Given the description of an element on the screen output the (x, y) to click on. 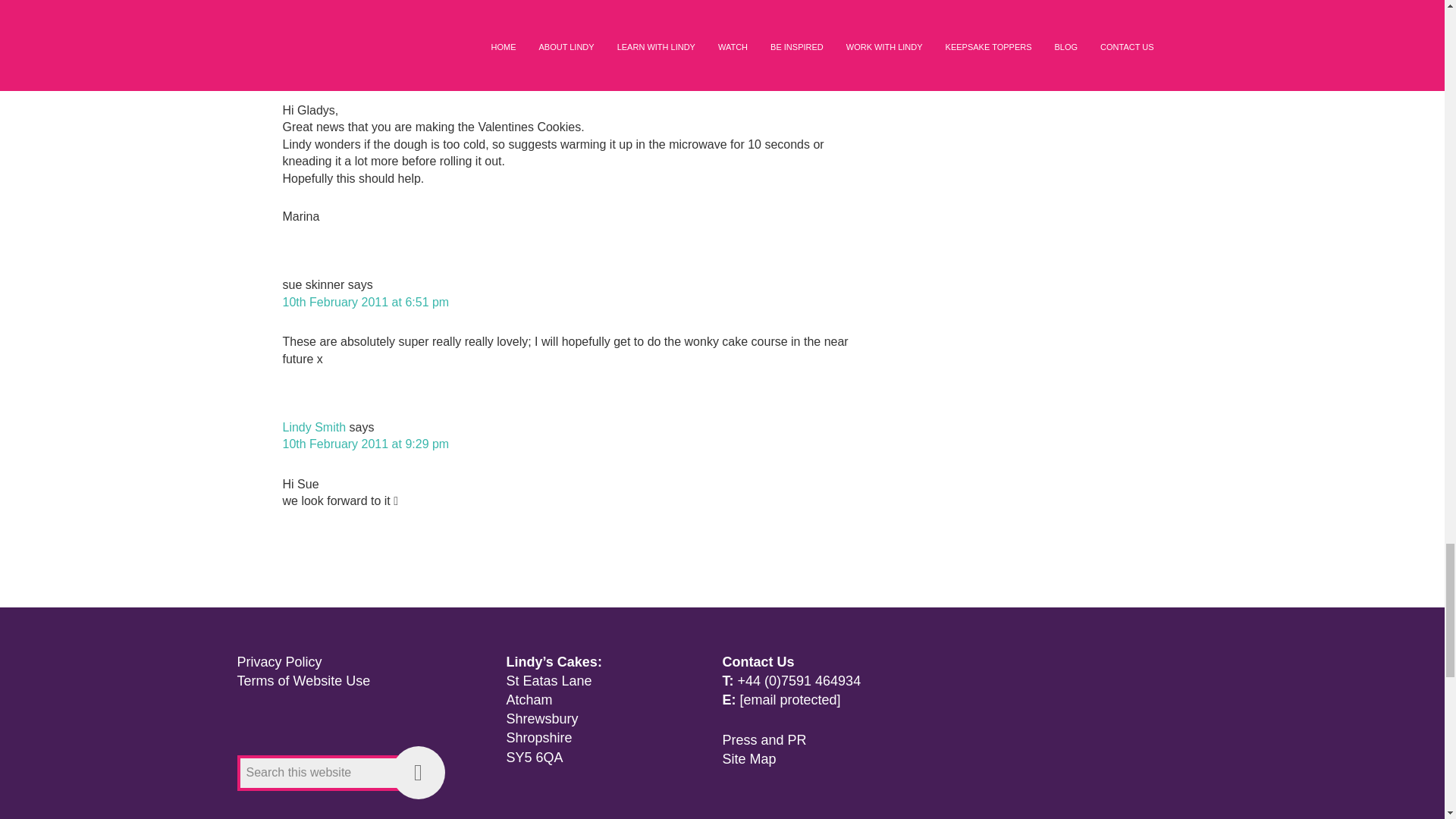
Facebook (349, 809)
